Given the description of an element on the screen output the (x, y) to click on. 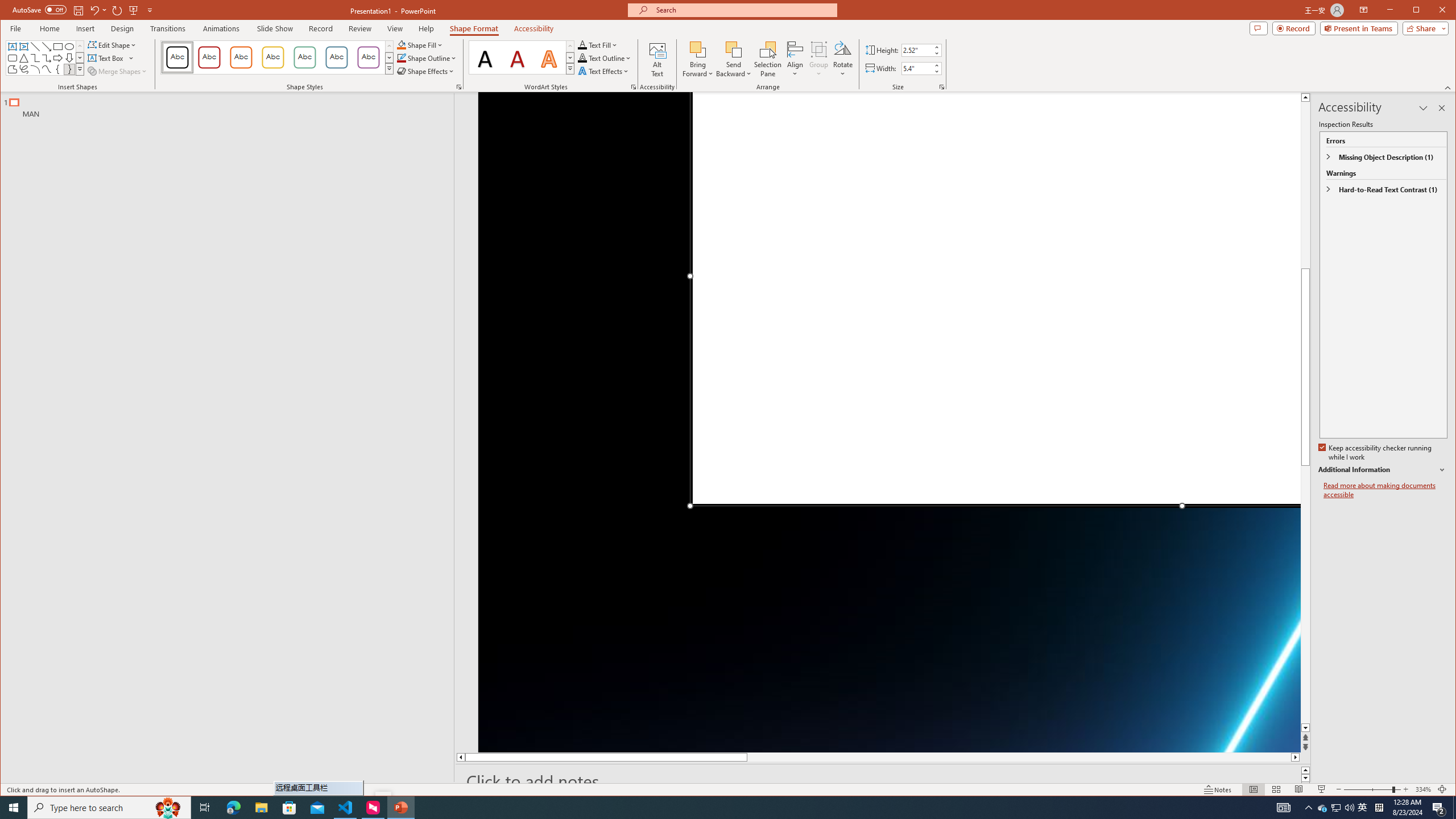
Send Backward (733, 59)
AutomationID: TextStylesGallery (521, 57)
Fill: Dark Red, Accent color 1; Shadow (517, 57)
